Given the description of an element on the screen output the (x, y) to click on. 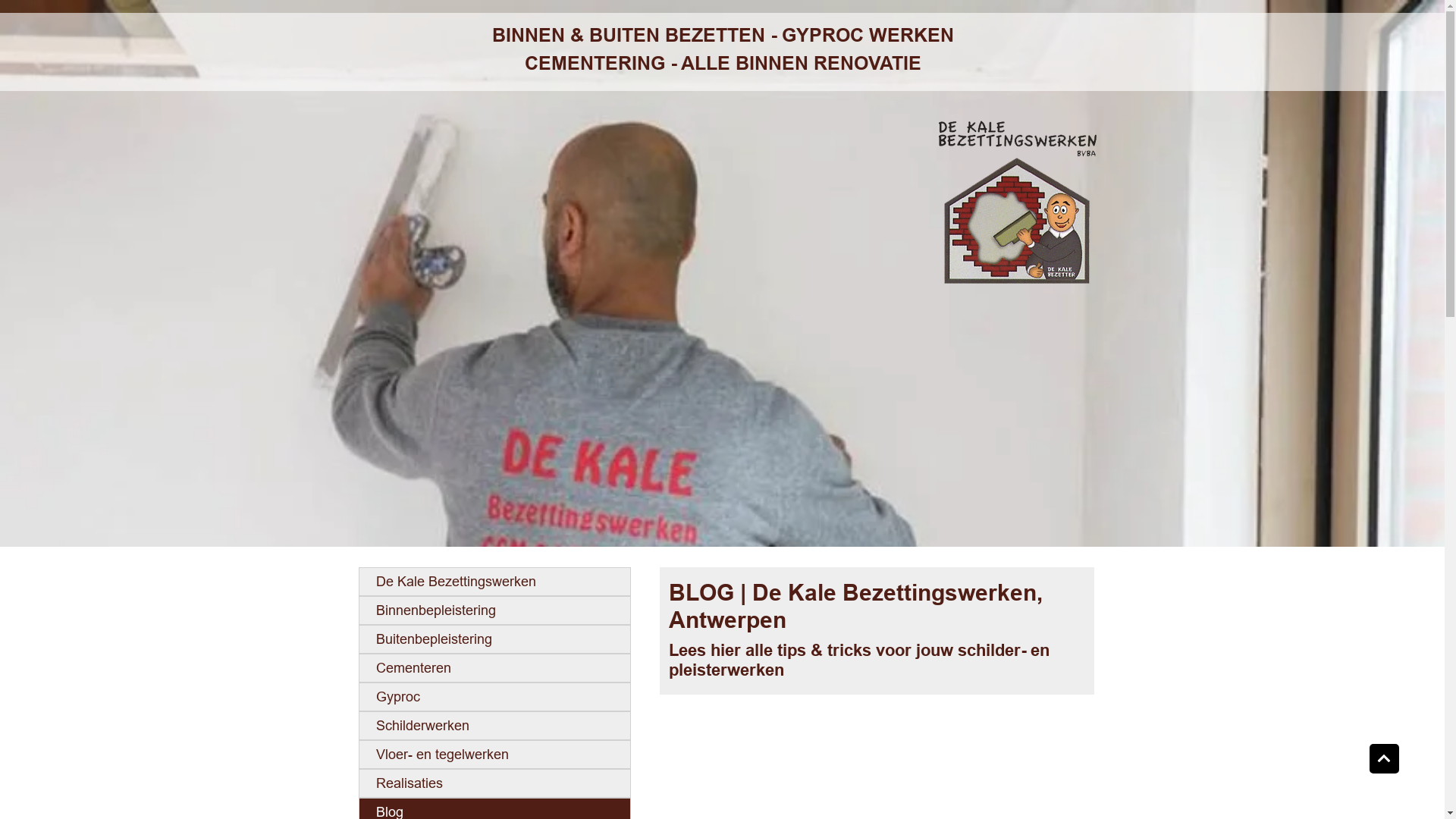
Gyproc Element type: text (494, 696)
Buitenbepleistering Element type: text (494, 638)
Vloer- en tegelwerken Element type: text (494, 754)
De Kale Bezettingswerken Element type: text (494, 581)
Cementeren Element type: text (494, 667)
Realisaties Element type: text (494, 783)
Schilderwerken Element type: text (494, 725)
De Kale Bezettingswerken Element type: hover (1017, 201)
Binnenbepleistering Element type: text (494, 610)
